Given the description of an element on the screen output the (x, y) to click on. 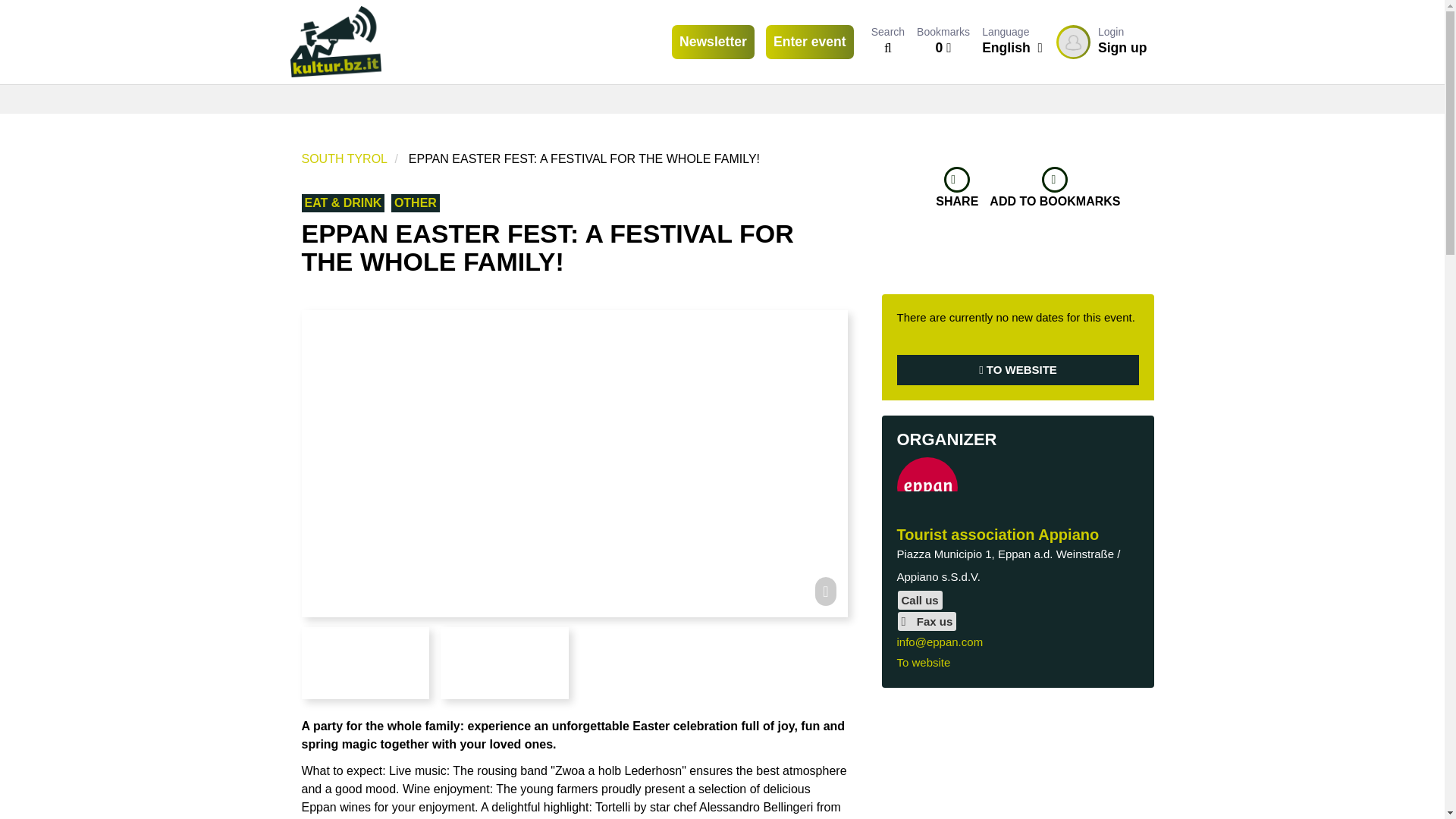
Newsletter (712, 41)
To website (923, 662)
Enter event (809, 41)
TO WEBSITE (1101, 42)
Tourist association Appiano (1017, 369)
SOUTH TYROL (997, 534)
